Given the description of an element on the screen output the (x, y) to click on. 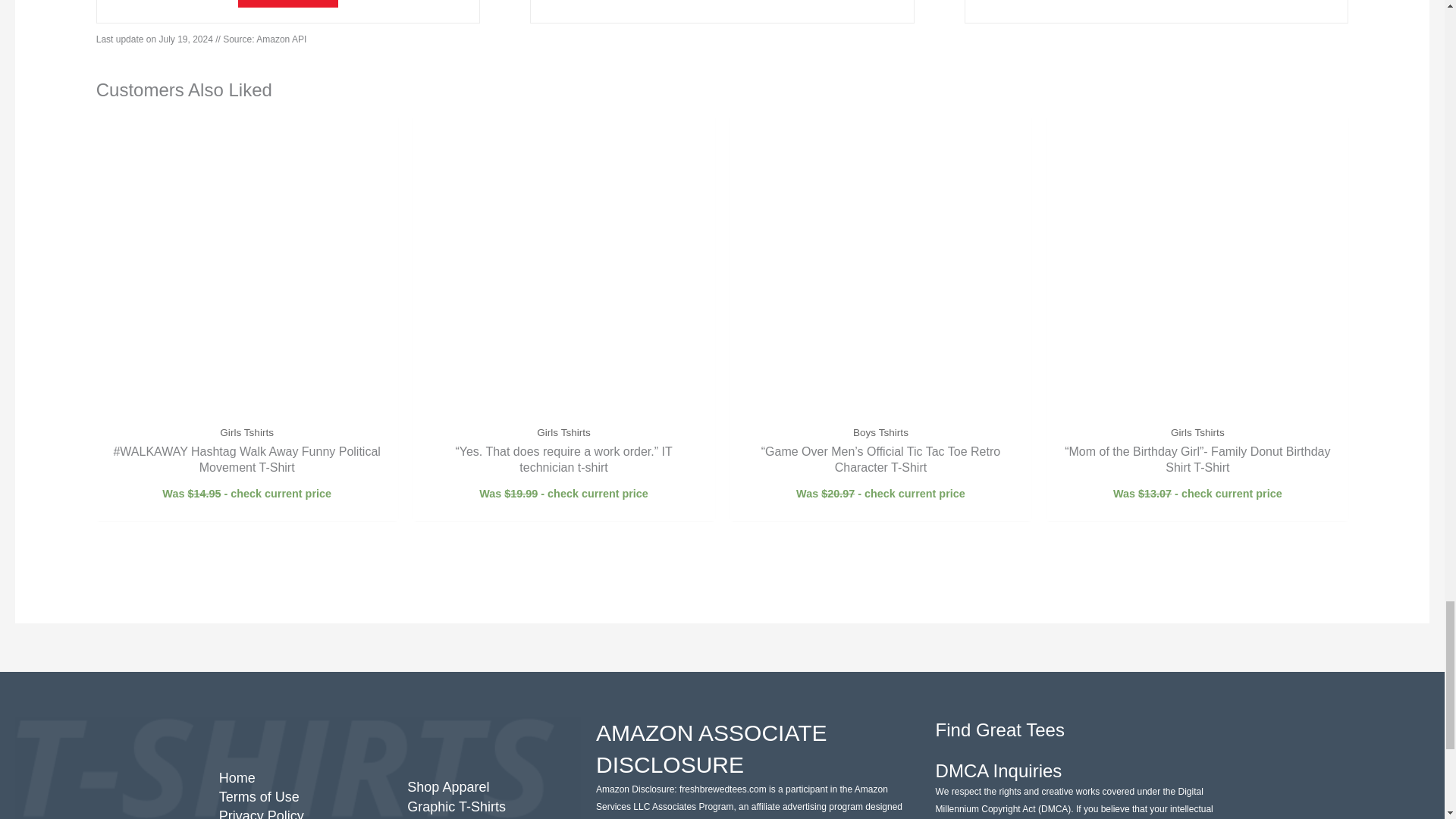
SHOP DEAL (287, 3)
